Given the description of an element on the screen output the (x, y) to click on. 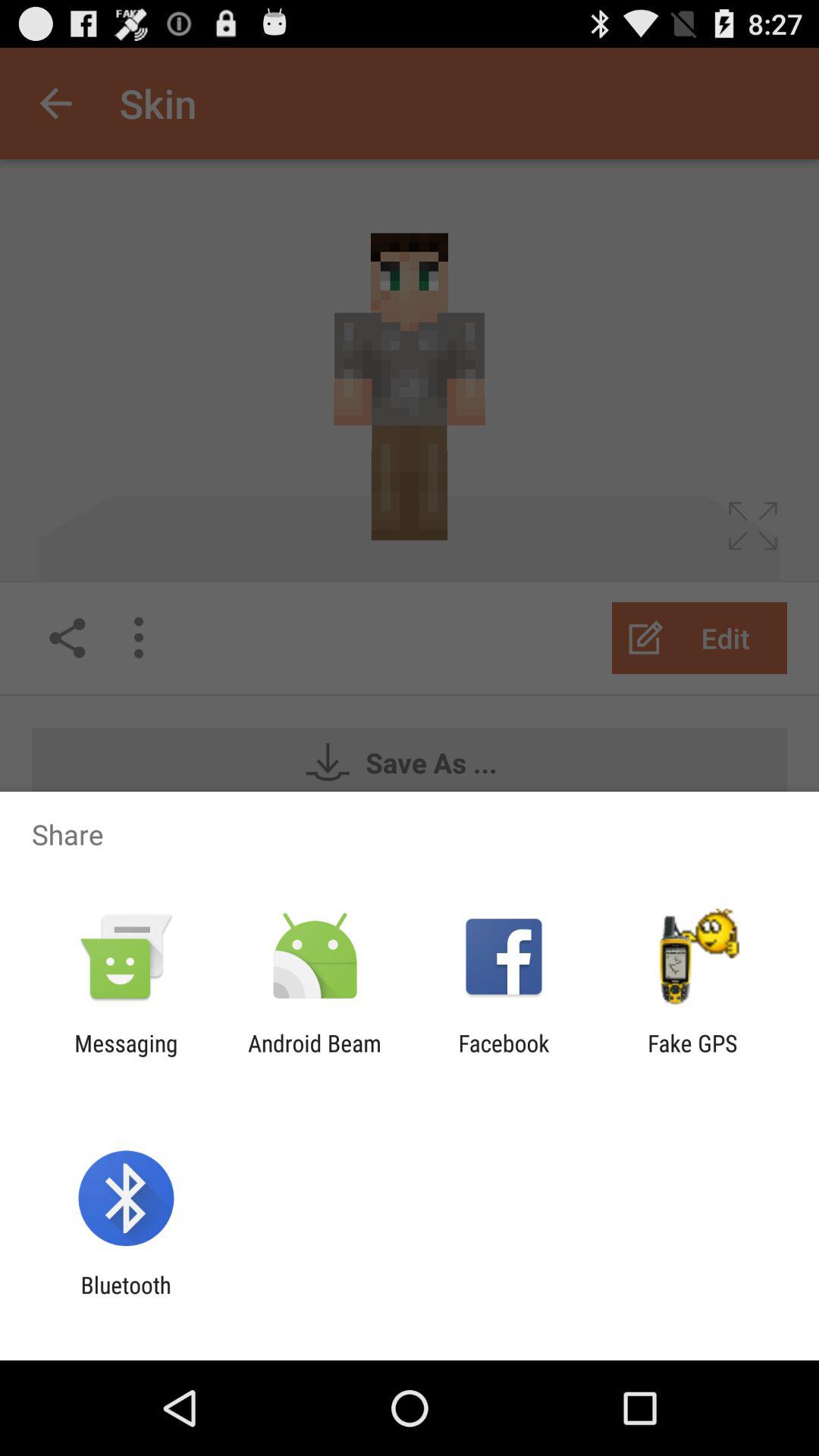
scroll until the bluetooth (125, 1298)
